Given the description of an element on the screen output the (x, y) to click on. 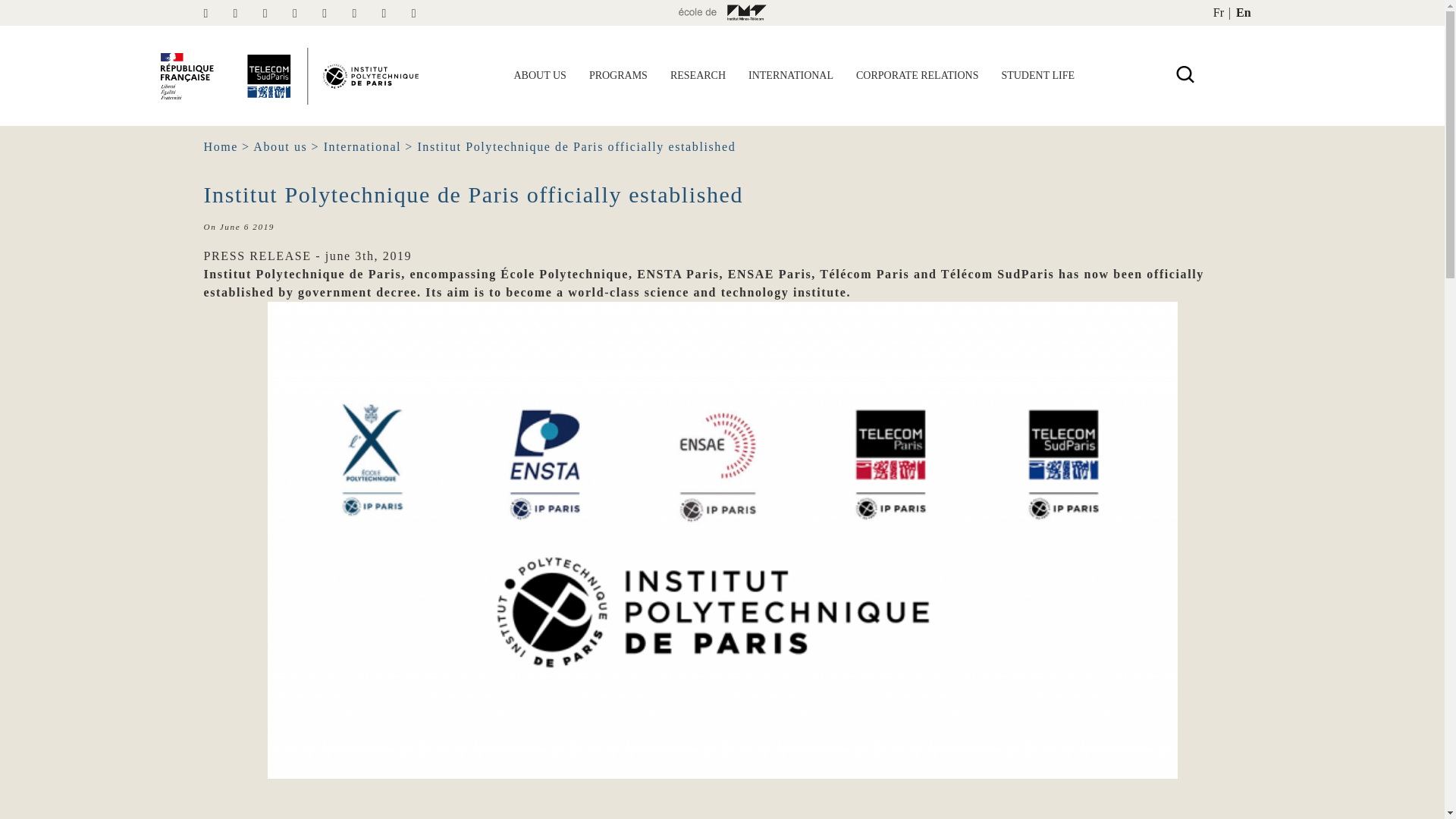
English version (1243, 11)
Home (220, 146)
En (1243, 11)
PROGRAMS (618, 75)
ABOUT US (539, 75)
